Given the description of an element on the screen output the (x, y) to click on. 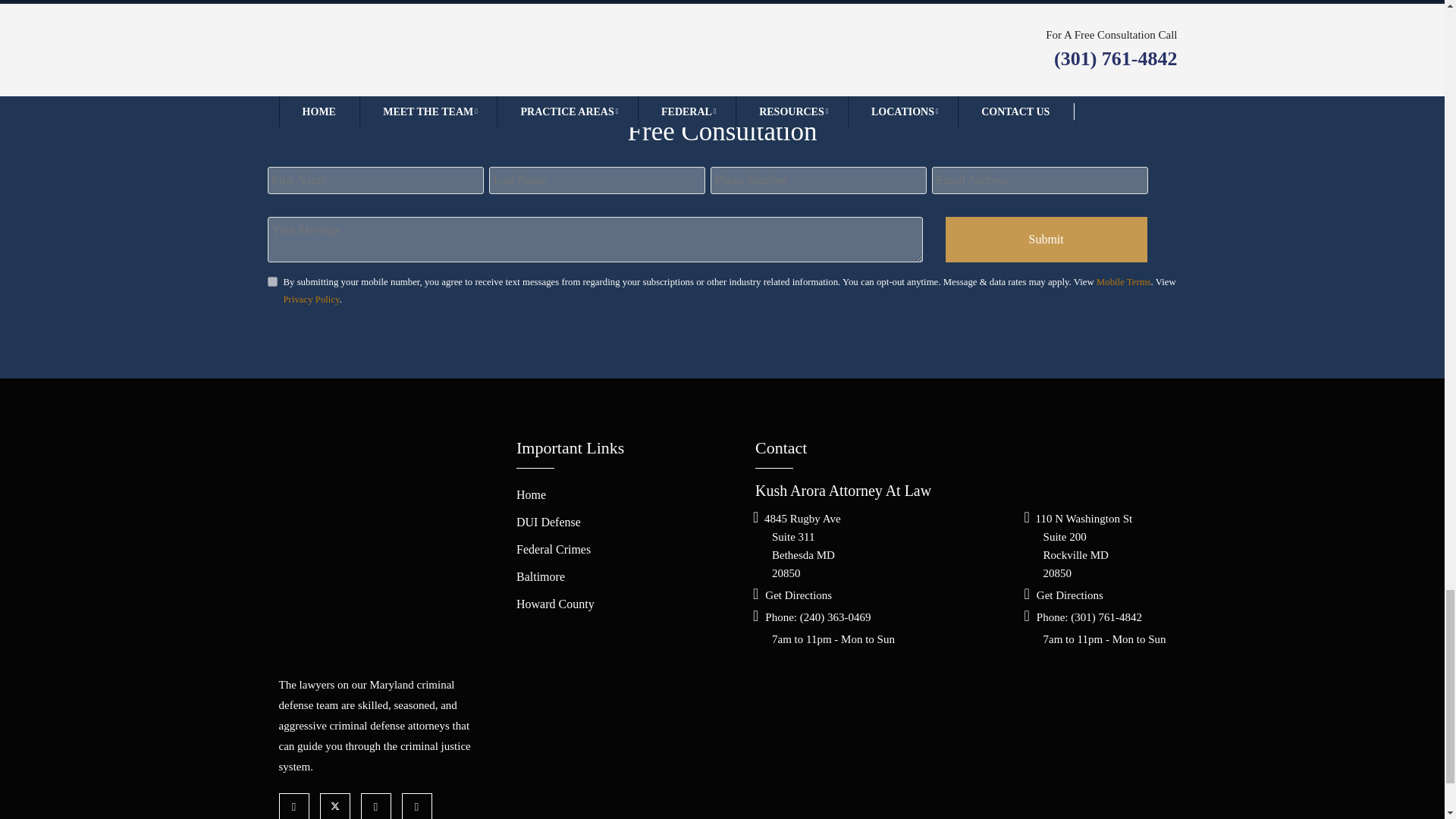
youtube (379, 806)
facebook (298, 806)
twitter (339, 806)
Submit (1045, 239)
linkedin (420, 806)
Yes (271, 281)
